Given the description of an element on the screen output the (x, y) to click on. 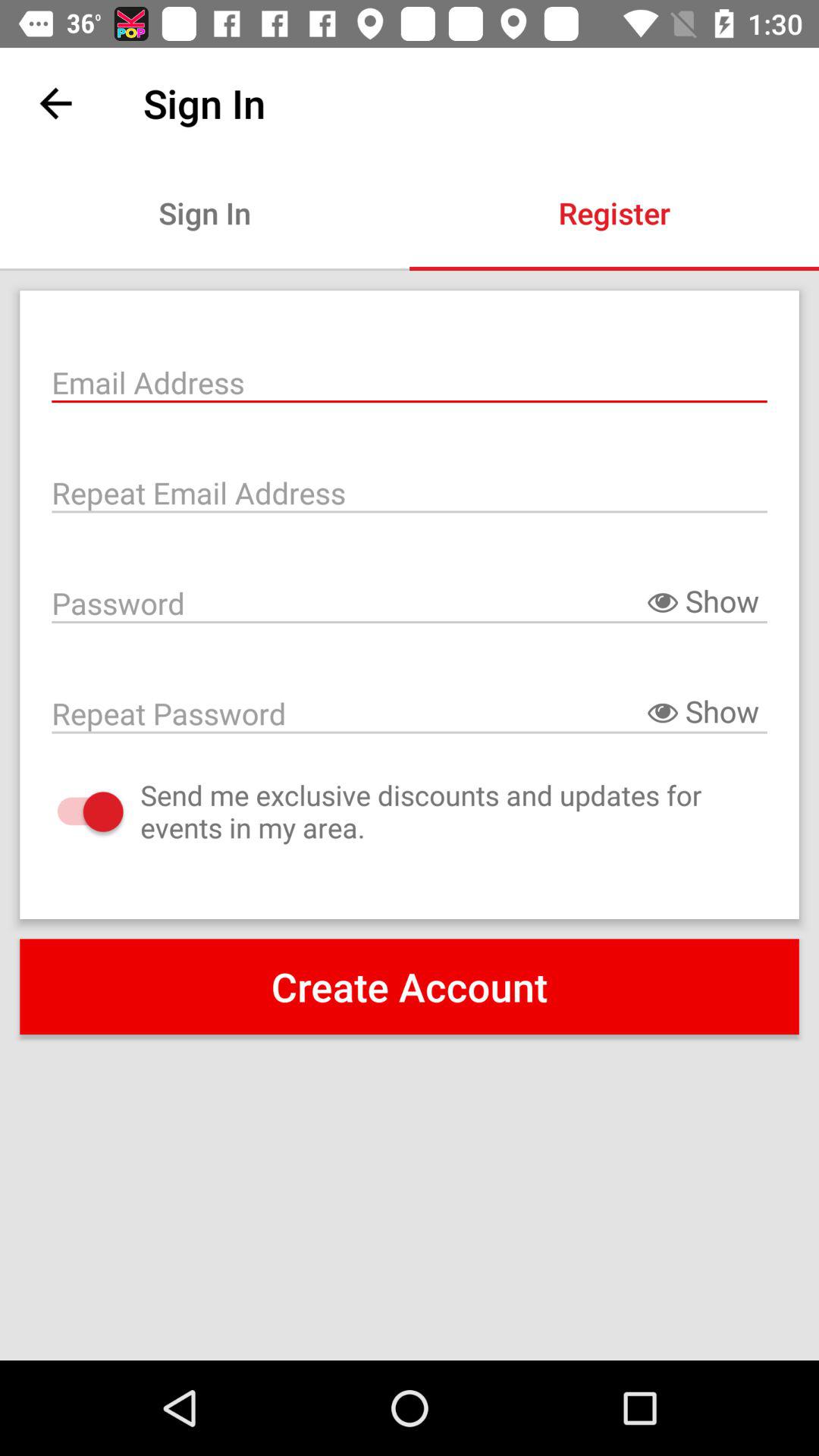
scroll until register icon (614, 212)
